Given the description of an element on the screen output the (x, y) to click on. 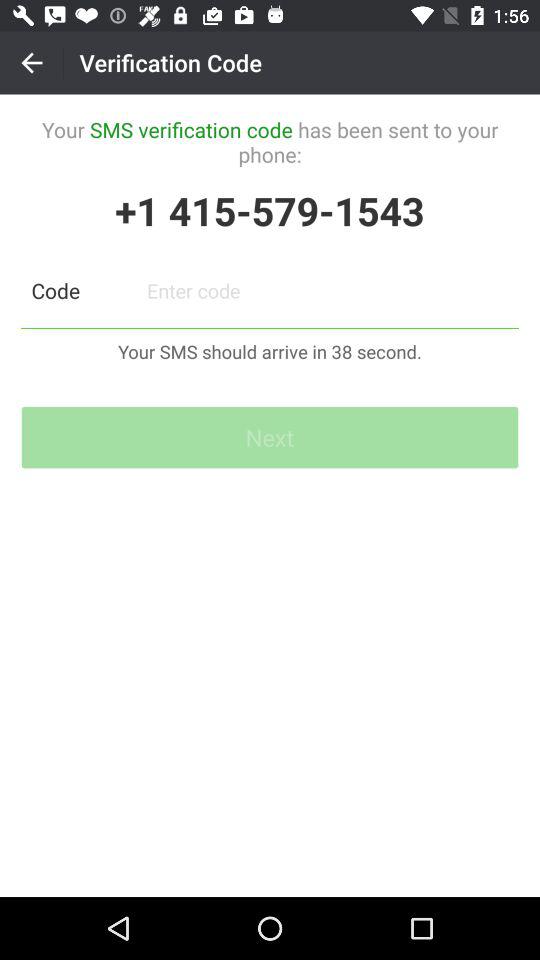
go to paswoord (327, 290)
